Given the description of an element on the screen output the (x, y) to click on. 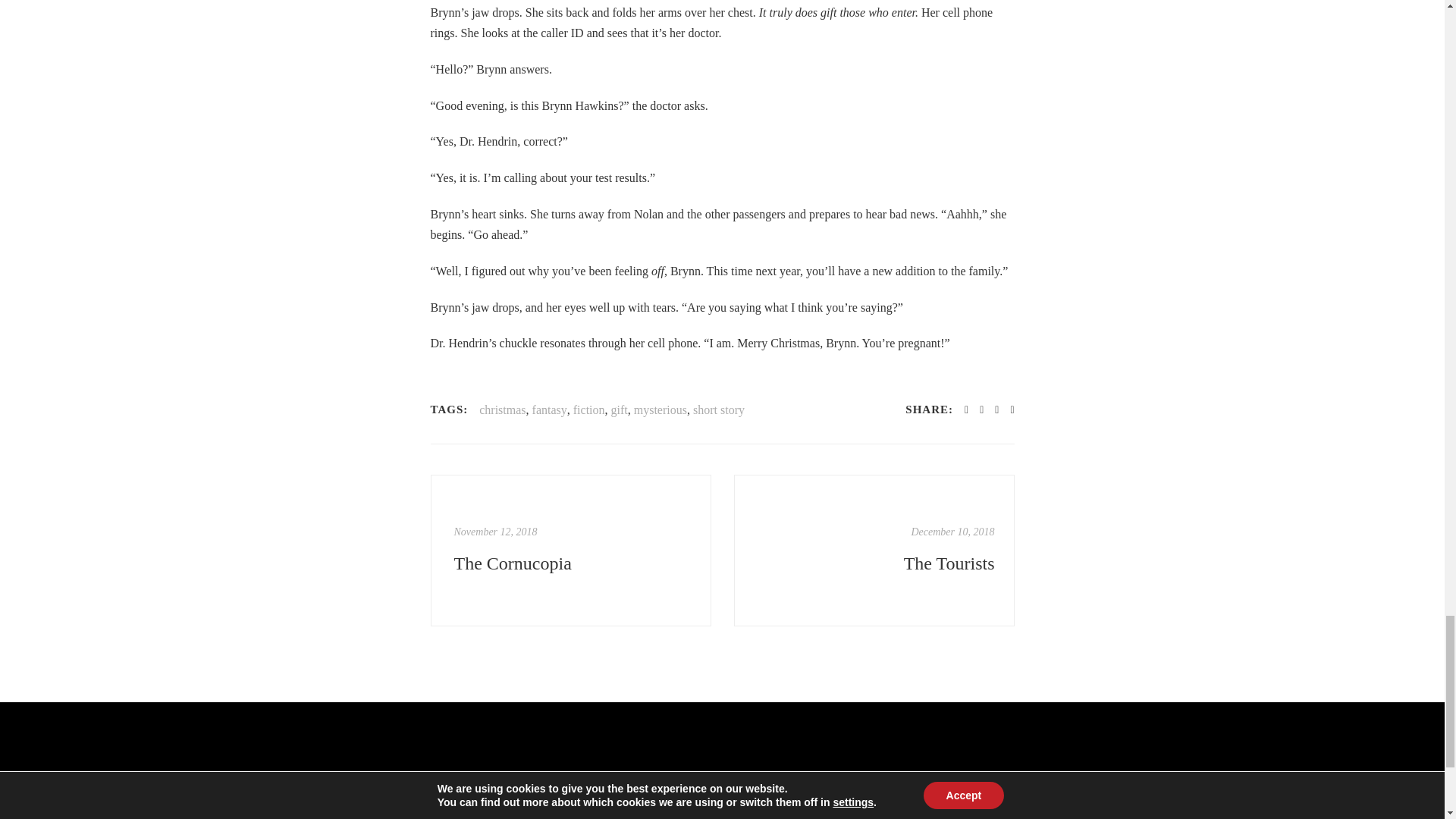
fiction (589, 410)
The Tourists (952, 531)
The Tourists (875, 563)
The Cornucopia (494, 531)
fantasy (549, 410)
mysterious (660, 410)
The Cornucopia (570, 550)
The Tourists (873, 550)
December 10, 2018 (952, 531)
short story (718, 410)
The Cornucopia (571, 563)
The Cornucopia (571, 563)
The Tourists (875, 563)
christmas (502, 410)
November 12, 2018 (494, 531)
